Given the description of an element on the screen output the (x, y) to click on. 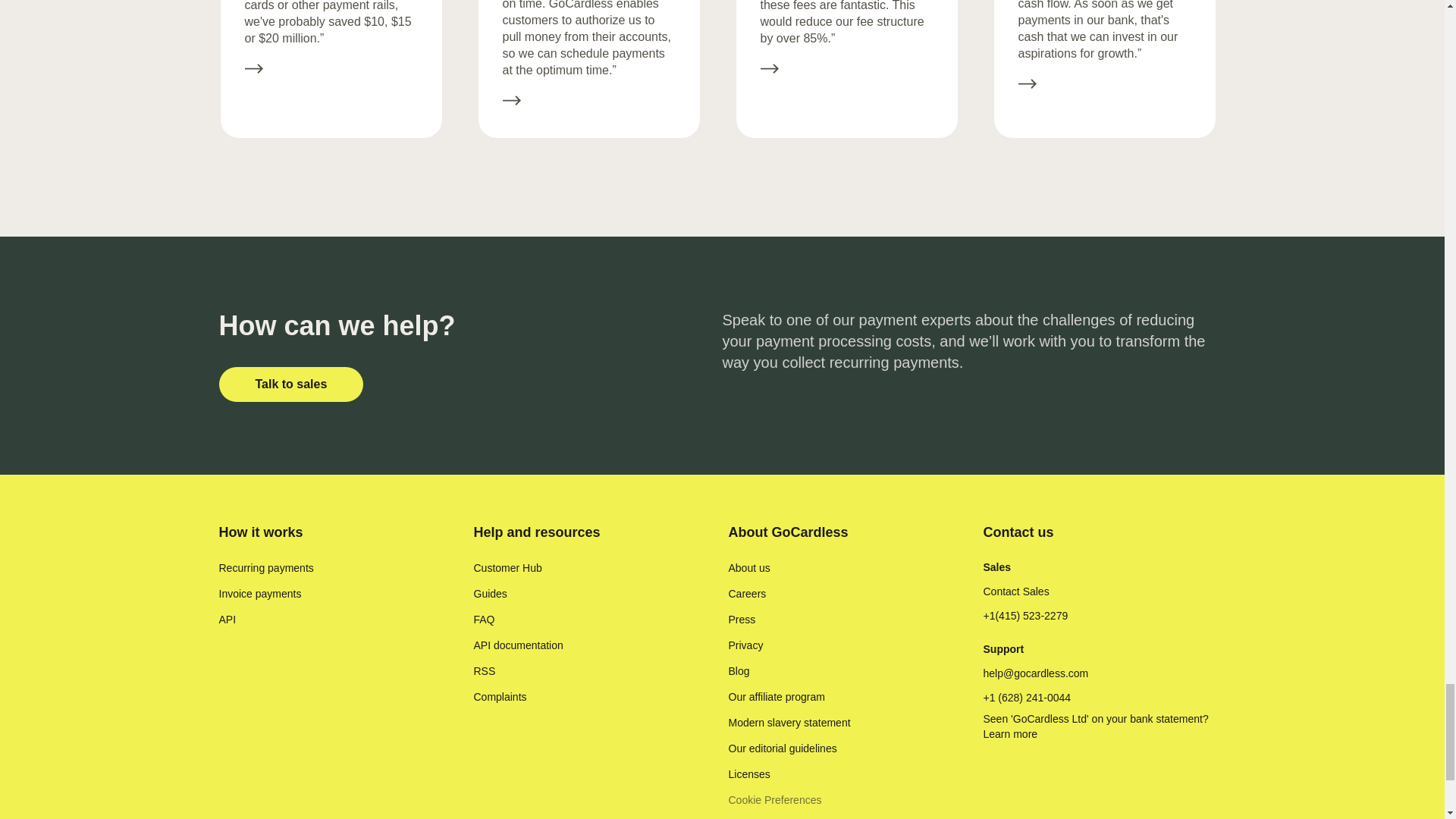
About us (749, 567)
Guides (489, 593)
Careers (746, 593)
Blog (738, 670)
API (226, 619)
RSS (484, 670)
Press (741, 619)
API documentation (517, 645)
Invoice payments (259, 593)
Privacy (745, 645)
